Given the description of an element on the screen output the (x, y) to click on. 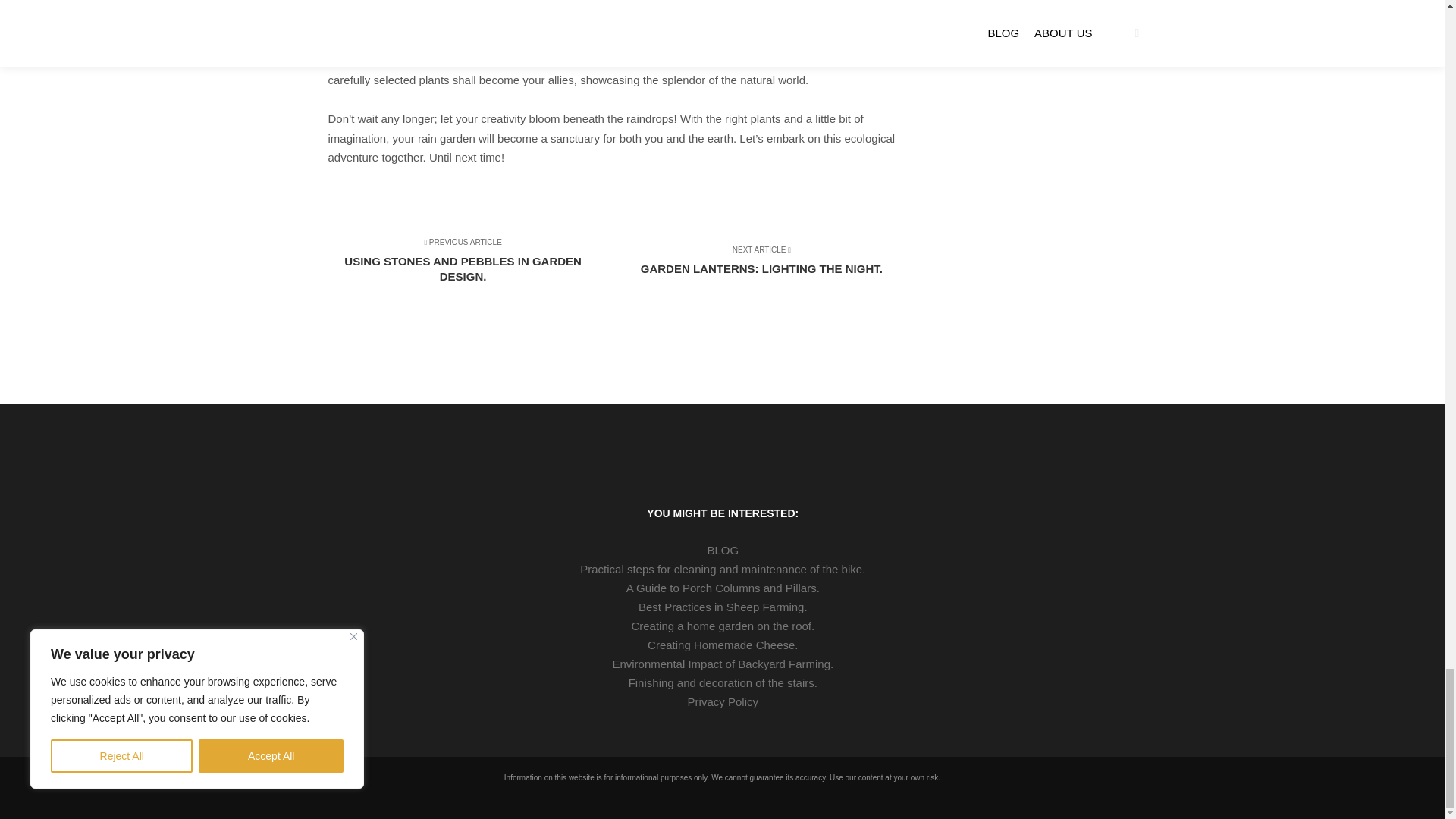
Privacy Policy (723, 701)
BLOG (723, 549)
Creating a home garden on the roof. (723, 625)
Creating Homemade Cheese. (723, 644)
Best Practices in Sheep Farming. (723, 606)
Finishing and decoration of the stairs. (754, 267)
Practical steps for cleaning and maintenance of the bike. (723, 682)
A Guide to Porch Columns and Pillars. (723, 568)
Environmental Impact of Backyard Farming. (469, 267)
